Given the description of an element on the screen output the (x, y) to click on. 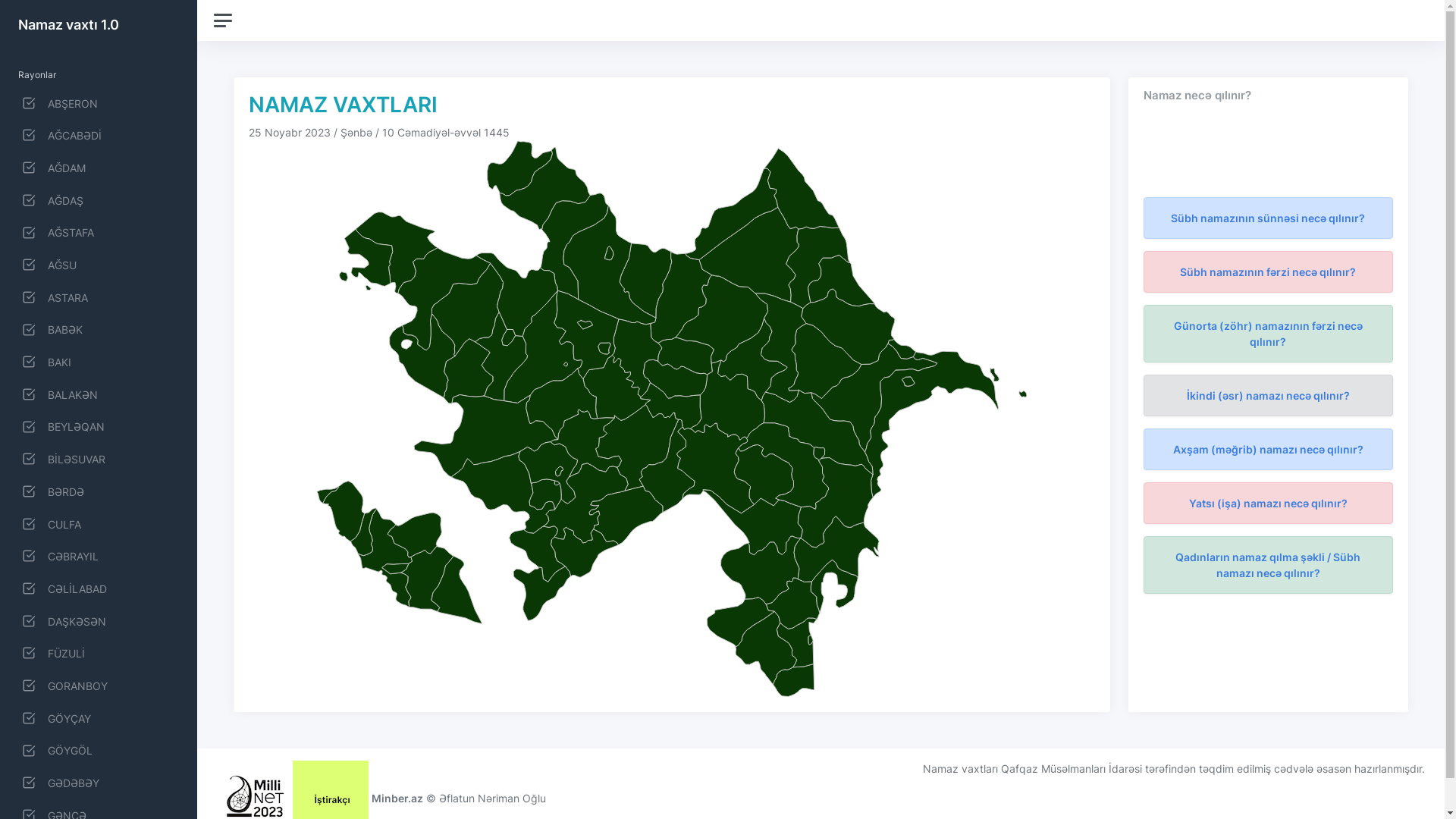
Minber.az Element type: text (397, 797)
CULFA Element type: text (98, 522)
ASTARA Element type: text (98, 296)
GORANBOY Element type: text (98, 684)
BAKI Element type: text (98, 361)
